Given the description of an element on the screen output the (x, y) to click on. 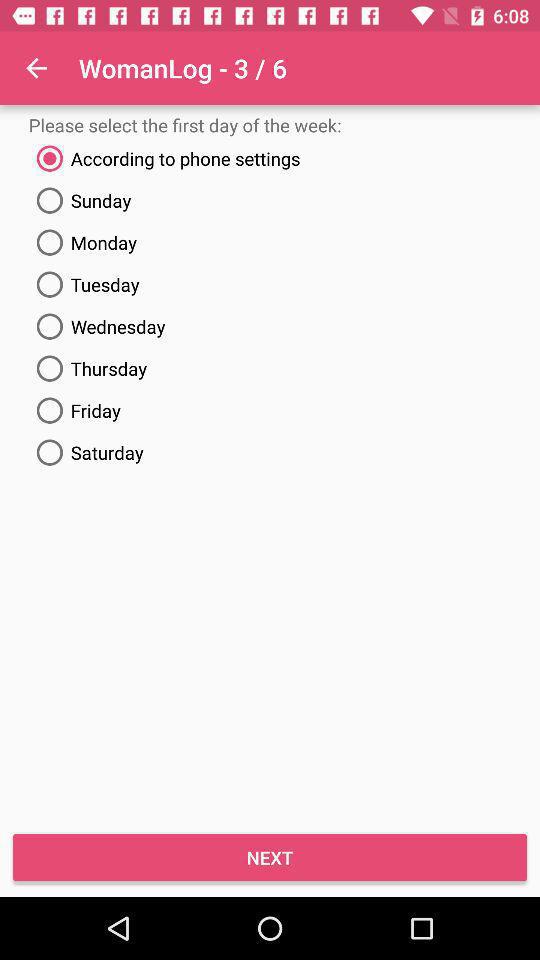
tap on the option mentioned as sunday (269, 200)
click on text above sunday (269, 159)
click next (269, 856)
select the option thursday (269, 368)
